Given the description of an element on the screen output the (x, y) to click on. 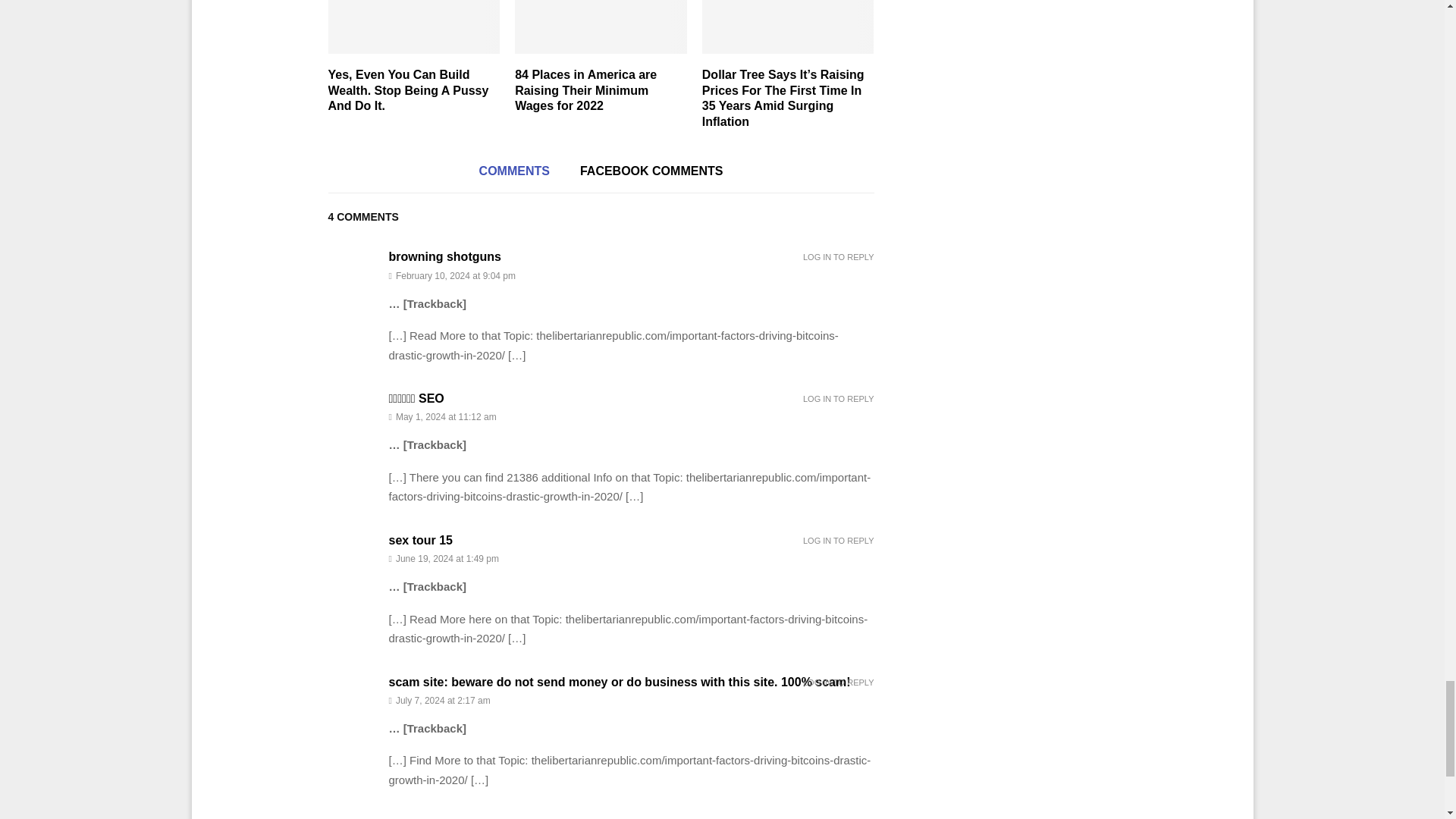
Saturday, February 10, 2024, 9:04 pm (630, 275)
Wednesday, May 1, 2024, 11:12 am (630, 417)
